Given the description of an element on the screen output the (x, y) to click on. 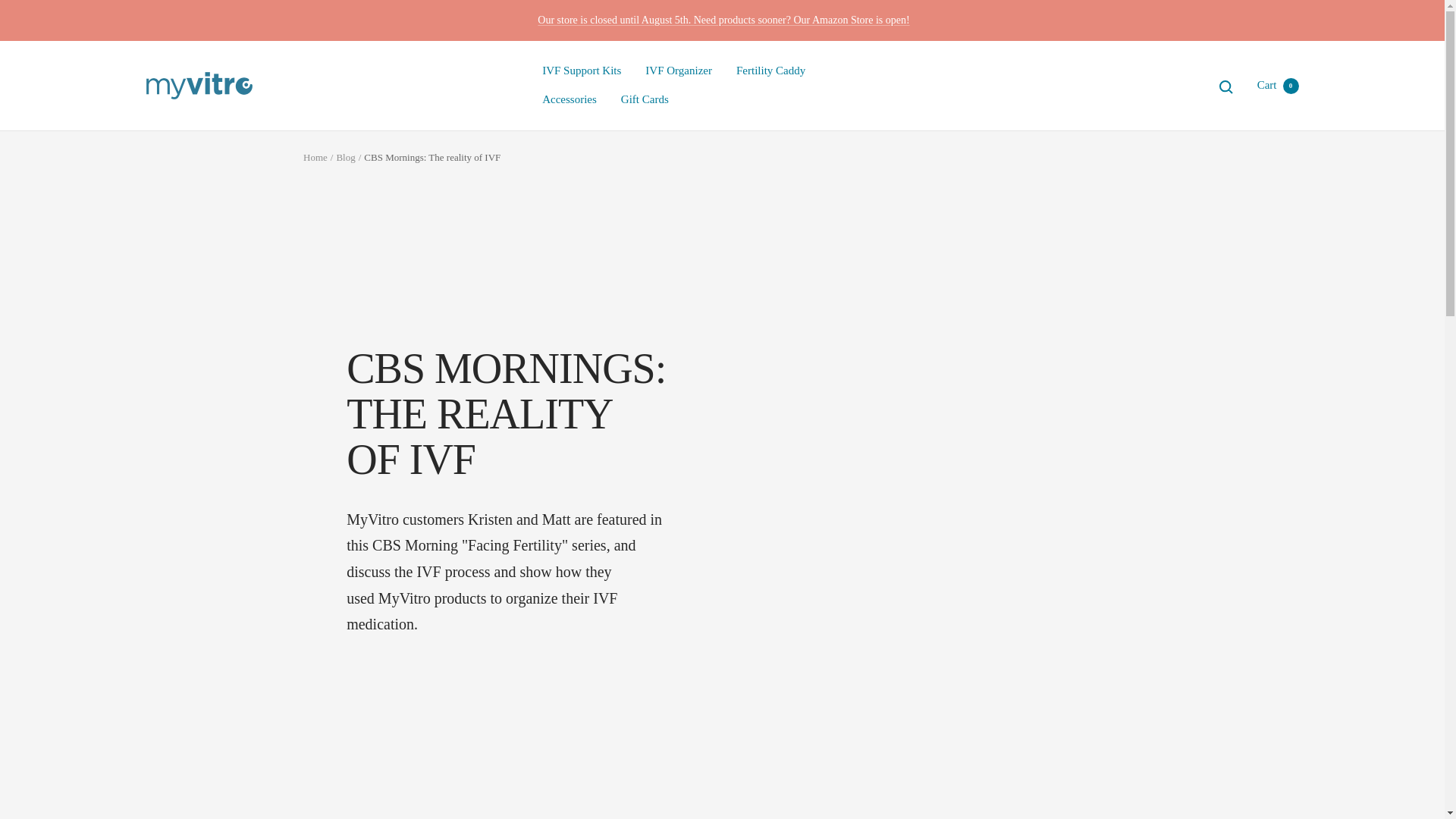
MyVitro (198, 85)
MyVitro products (1277, 84)
IVF Support Kits (432, 597)
Gift Cards (581, 71)
Fertility Caddy (644, 99)
Accessories (770, 71)
Home (568, 99)
Blog (314, 156)
IVF Organizer (345, 156)
MyVitro IVF Medication Organizers (678, 71)
